Given the description of an element on the screen output the (x, y) to click on. 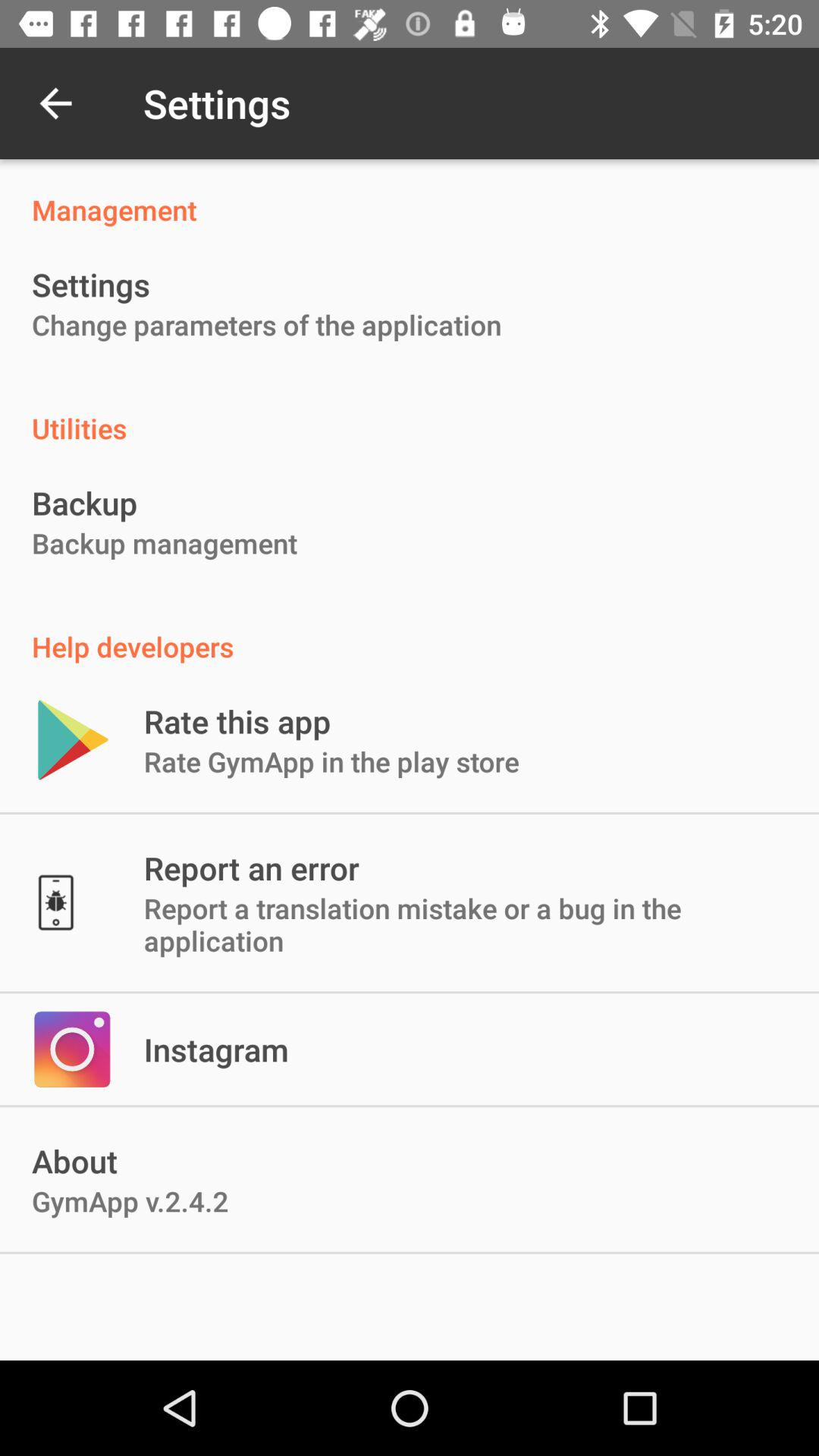
select icon below rate gymapp in item (251, 867)
